Given the description of an element on the screen output the (x, y) to click on. 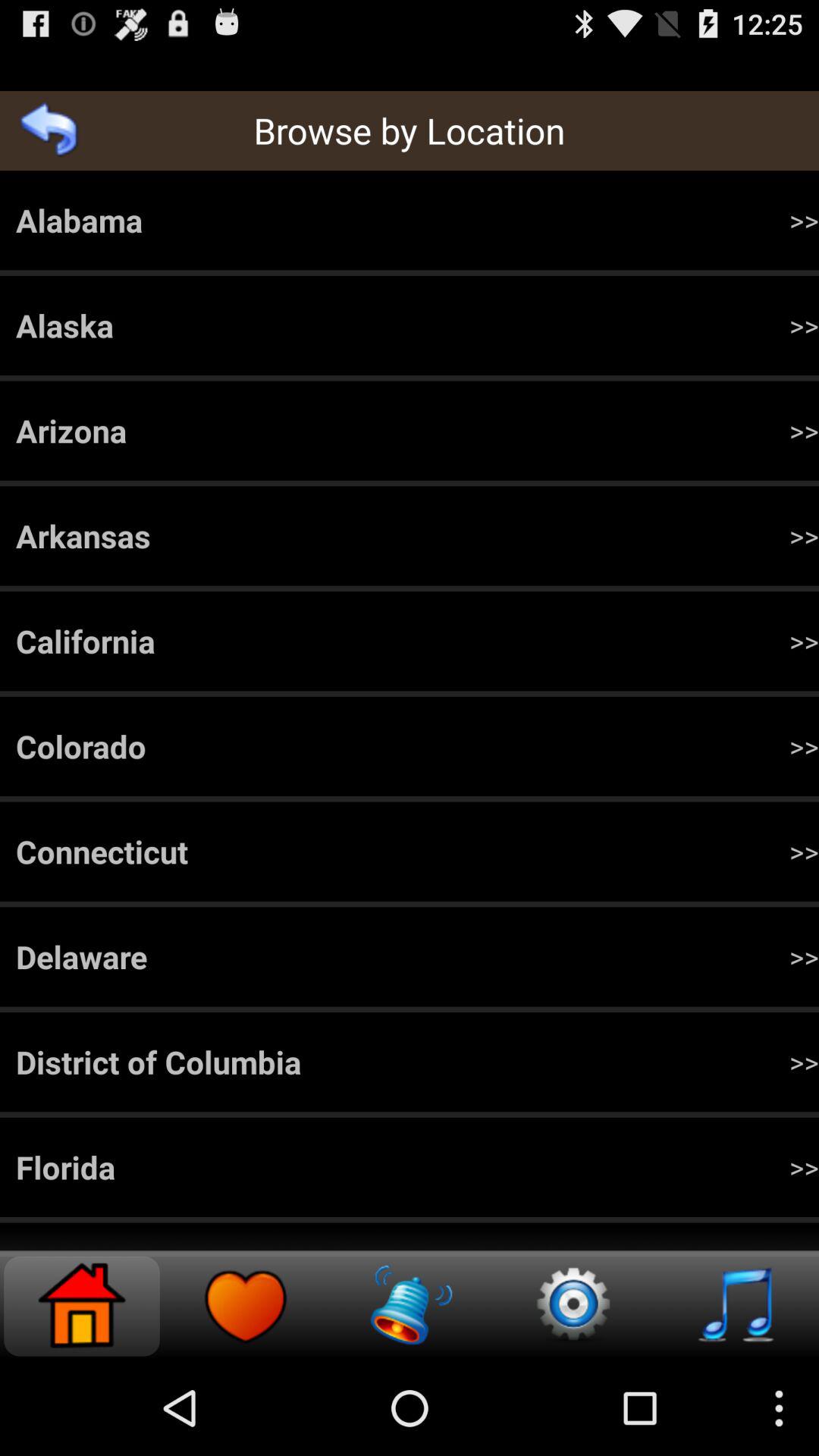
click the bottom corner music option (737, 1305)
